Given the description of an element on the screen output the (x, y) to click on. 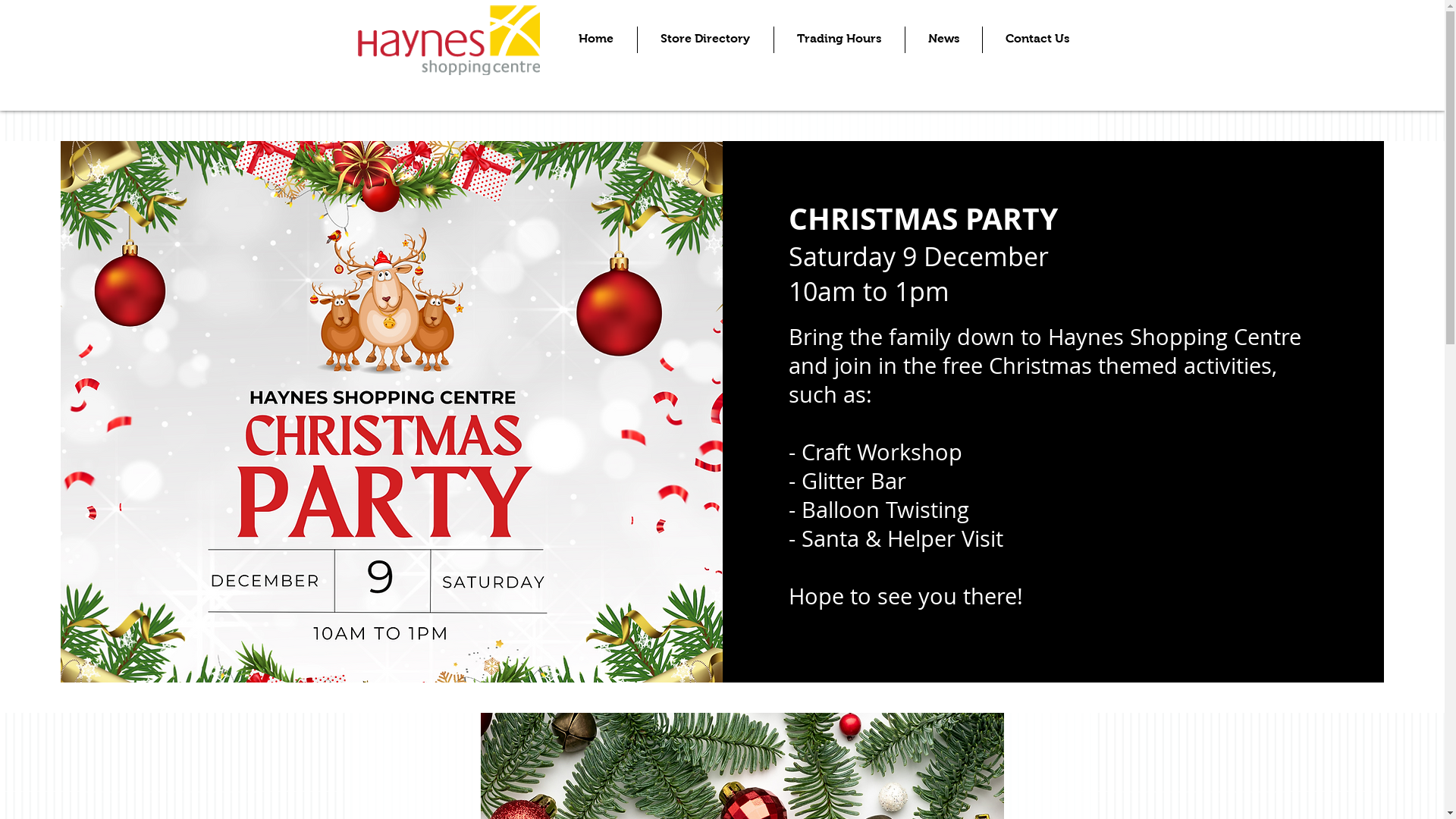
Home Element type: text (595, 39)
Contact Us Element type: text (1037, 39)
News Element type: text (943, 39)
Store Directory Element type: text (704, 39)
Trading Hours Element type: text (838, 39)
